Given the description of an element on the screen output the (x, y) to click on. 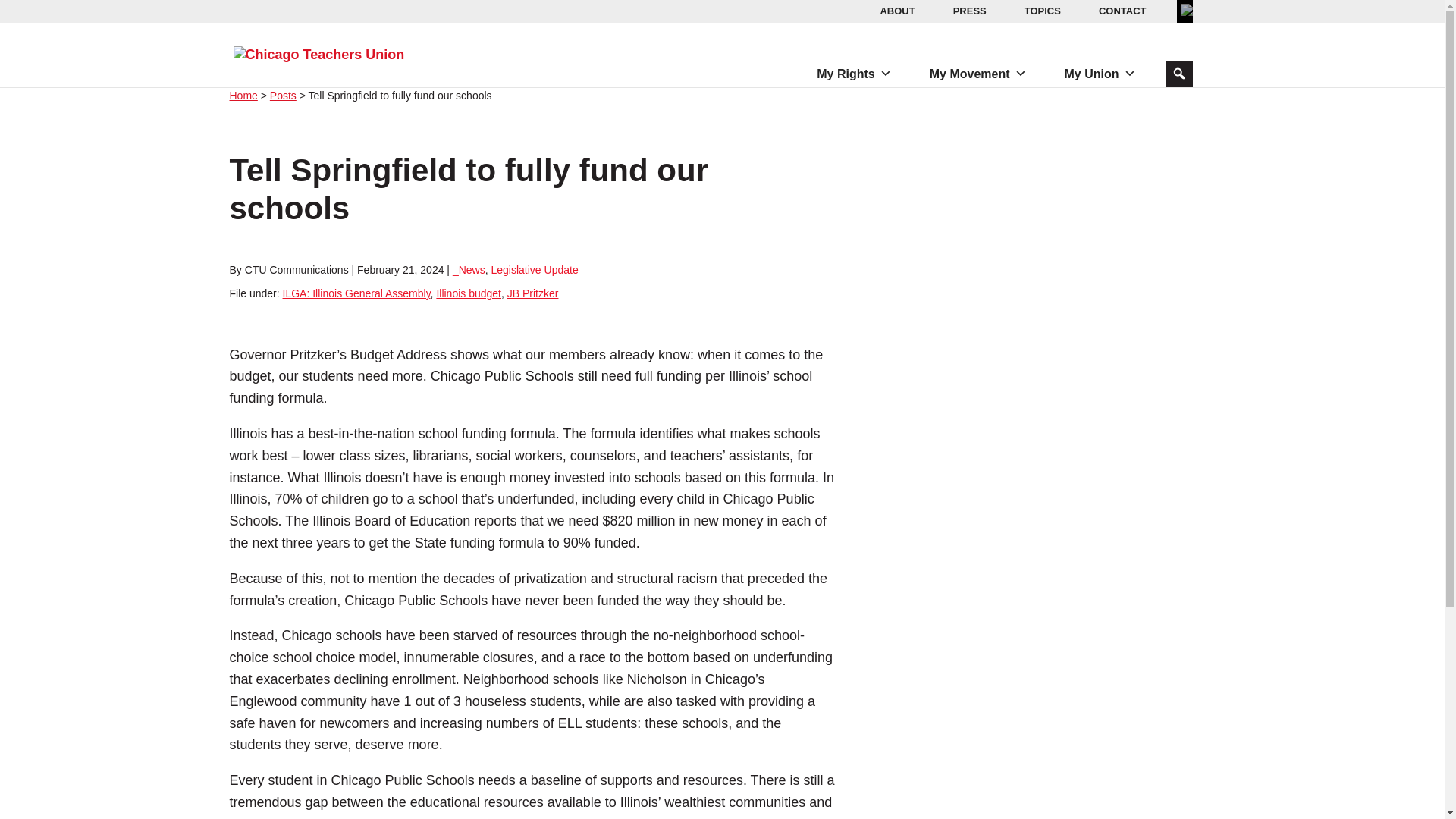
ABOUT (896, 10)
My Union (1099, 73)
PRESS (969, 10)
My Movement (977, 73)
CONTACT (1122, 10)
My Rights (853, 73)
Go to Chicago Teachers Union. (242, 95)
TOPICS (1042, 10)
